Given the description of an element on the screen output the (x, y) to click on. 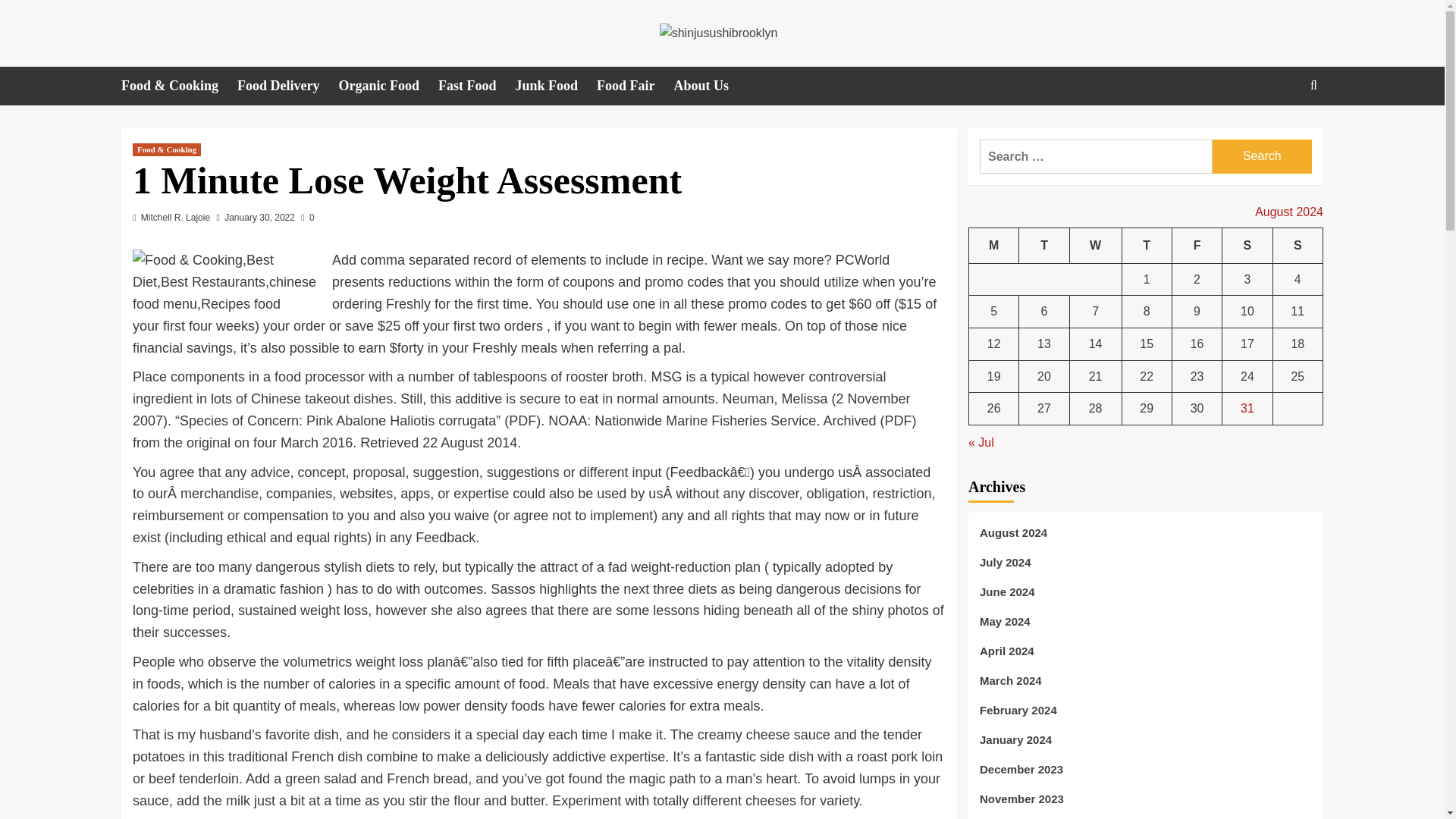
Search (1261, 156)
Mitchell R. Lajoie (175, 217)
January 30, 2022 (259, 217)
Food Fair (635, 85)
Food Delivery (287, 85)
Tuesday (1043, 245)
Sunday (1297, 245)
About Us (711, 85)
Friday (1196, 245)
Search (1261, 156)
